Given the description of an element on the screen output the (x, y) to click on. 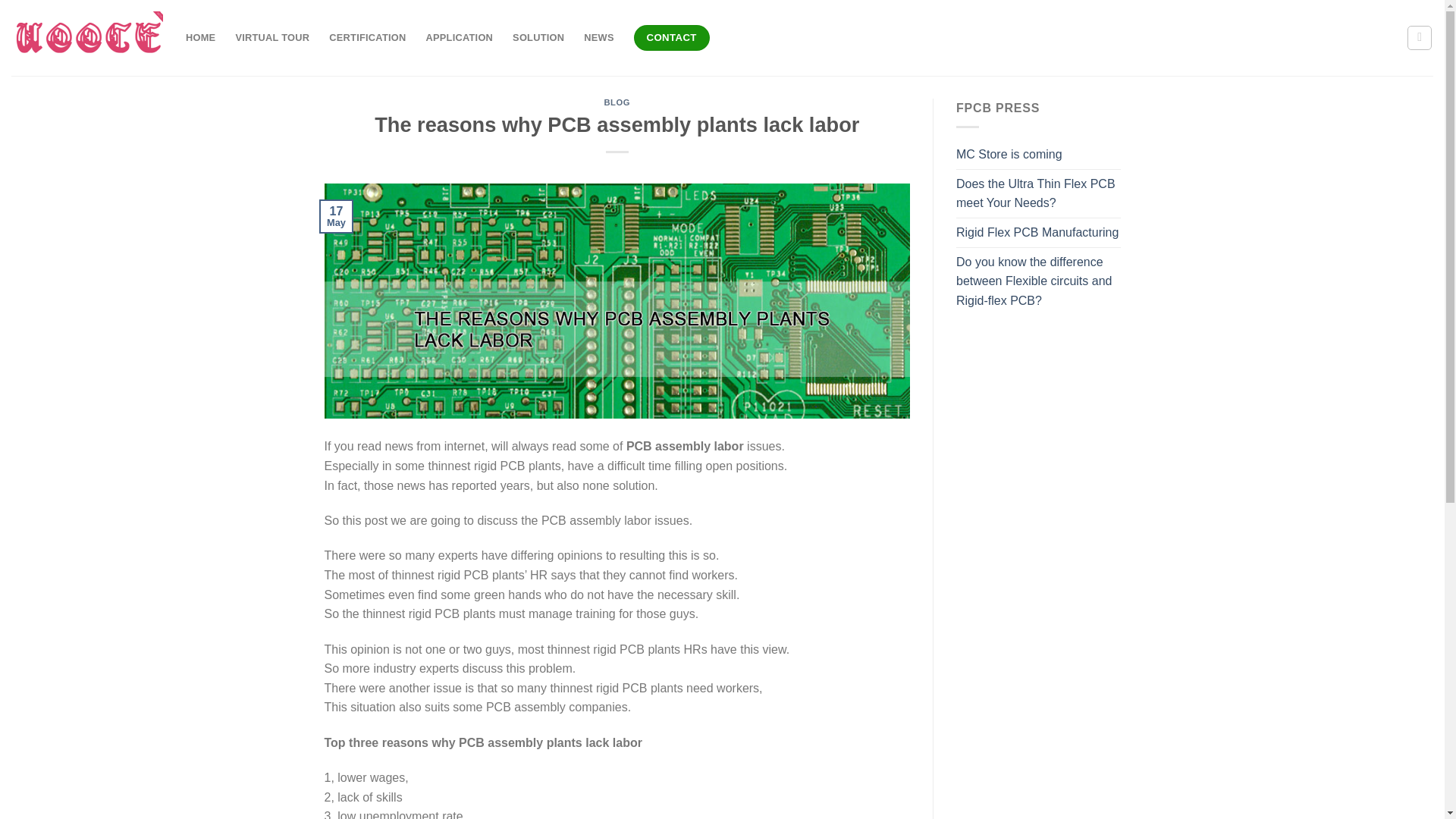
Does the Ultra Thin Flex PCB meet Your Needs? (1038, 193)
CERTIFICATION (367, 37)
Rigid Flex PCB Manufacturing (1037, 232)
CONTACT (671, 37)
VIRTUAL TOUR (271, 37)
NEWS (597, 37)
BLOG (617, 102)
MC Store is coming (1009, 154)
